Given the description of an element on the screen output the (x, y) to click on. 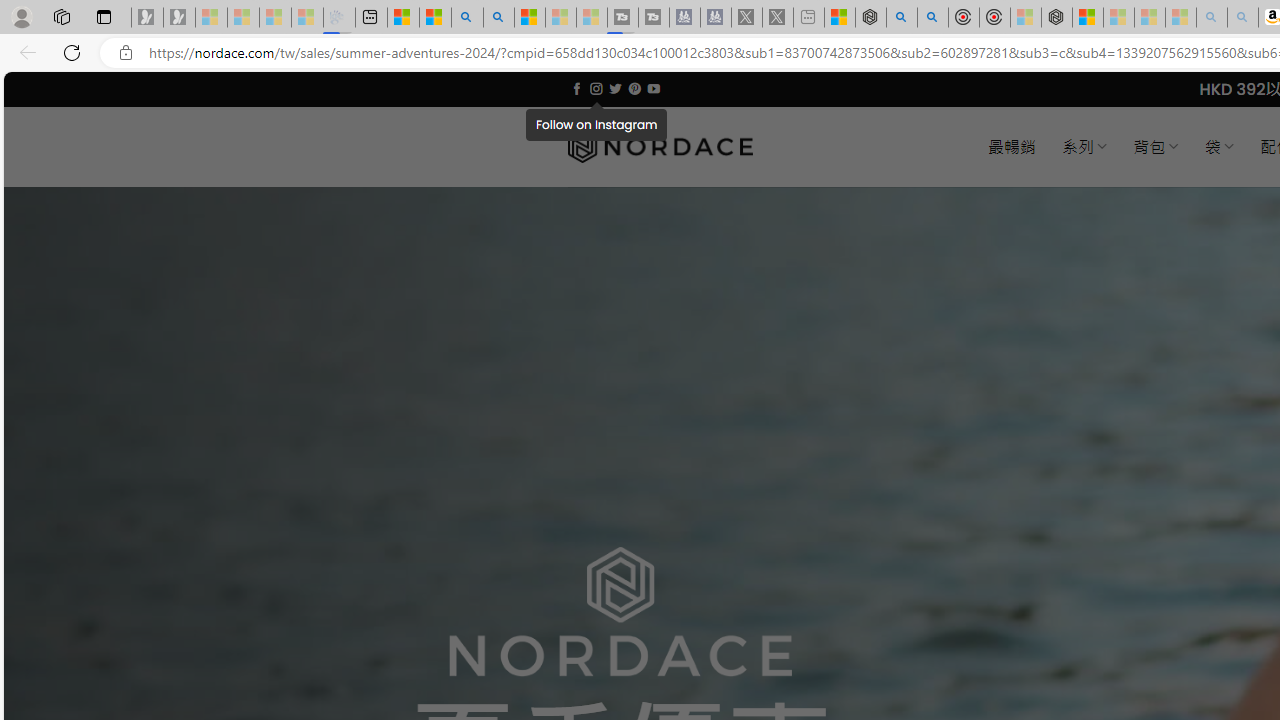
Newsletter Sign Up - Sleeping (178, 17)
Nordace - Nordace Siena Is Not An Ordinary Backpack (1056, 17)
